Given the description of an element on the screen output the (x, y) to click on. 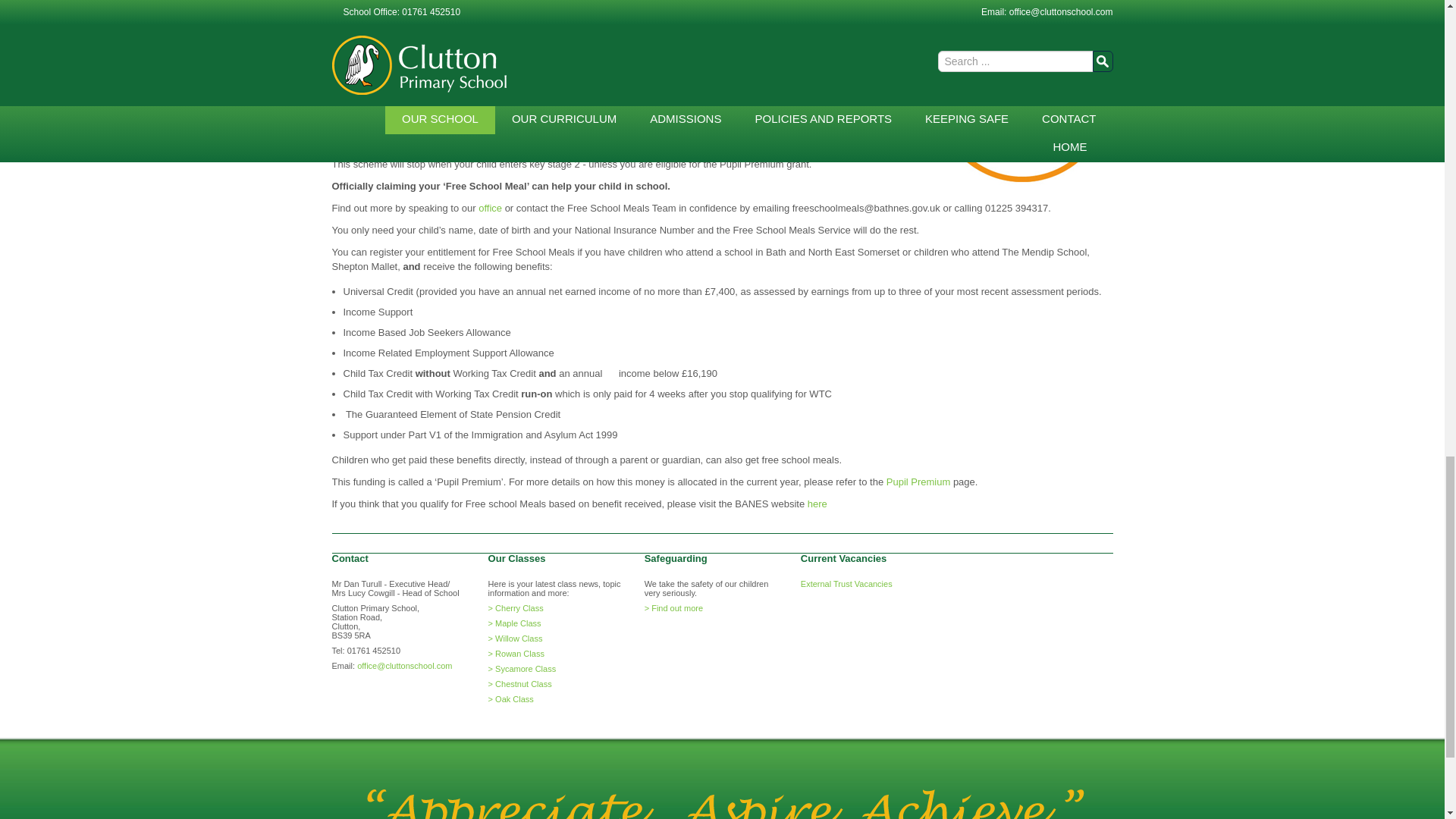
Pupil Premium page (918, 481)
